Given the description of an element on the screen output the (x, y) to click on. 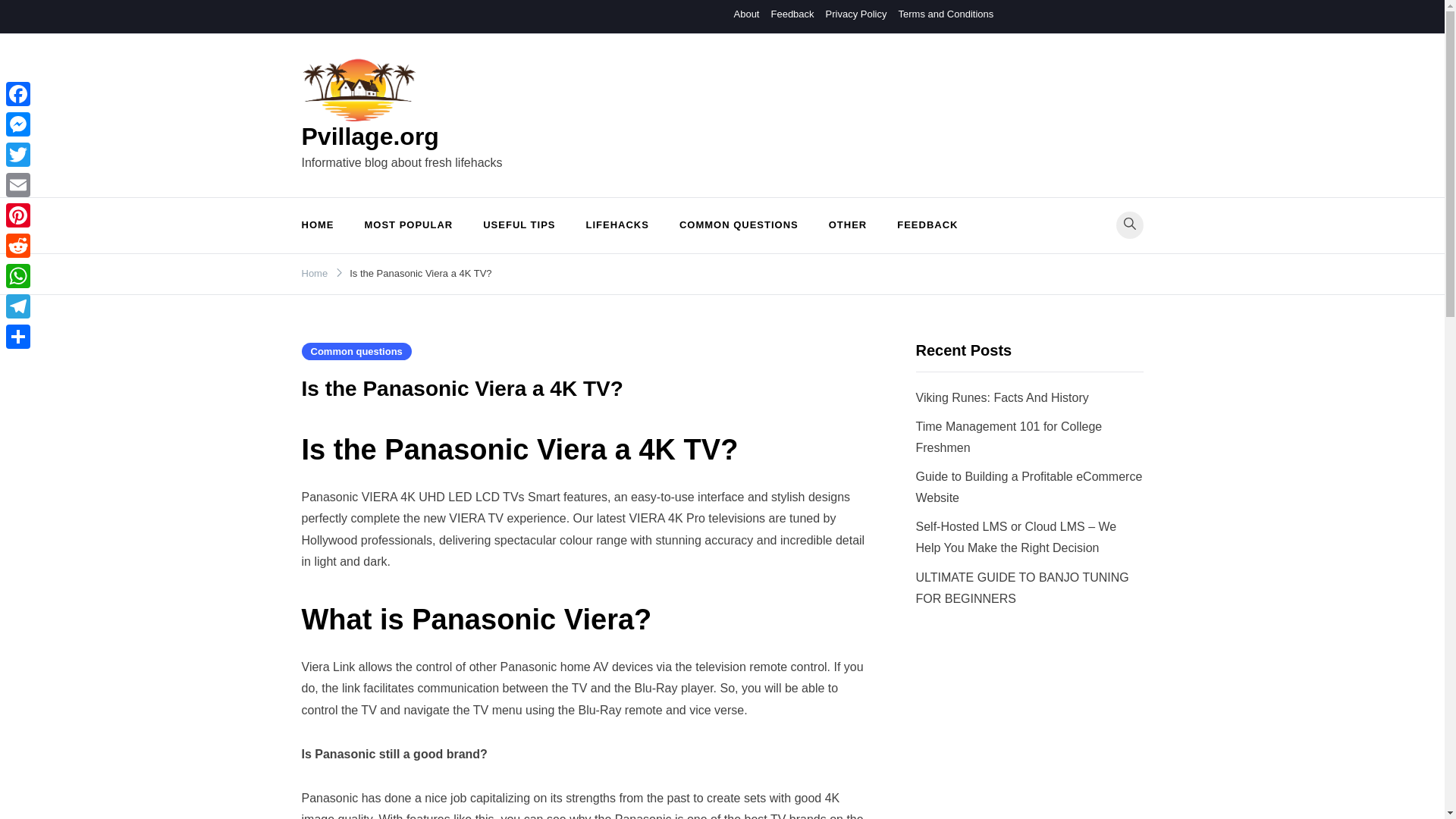
ULTIMATE GUIDE TO BANJO TUNING FOR BEGINNERS (1022, 587)
Pinterest (17, 214)
USEFUL TIPS (518, 225)
Guide to Building a Profitable eCommerce Website (1028, 487)
Viking Runes: Facts And History (1002, 397)
Privacy Policy (855, 13)
Telegram (17, 306)
Pvillage.org (370, 135)
Facebook (17, 93)
LIFEHACKS (616, 225)
